Given the description of an element on the screen output the (x, y) to click on. 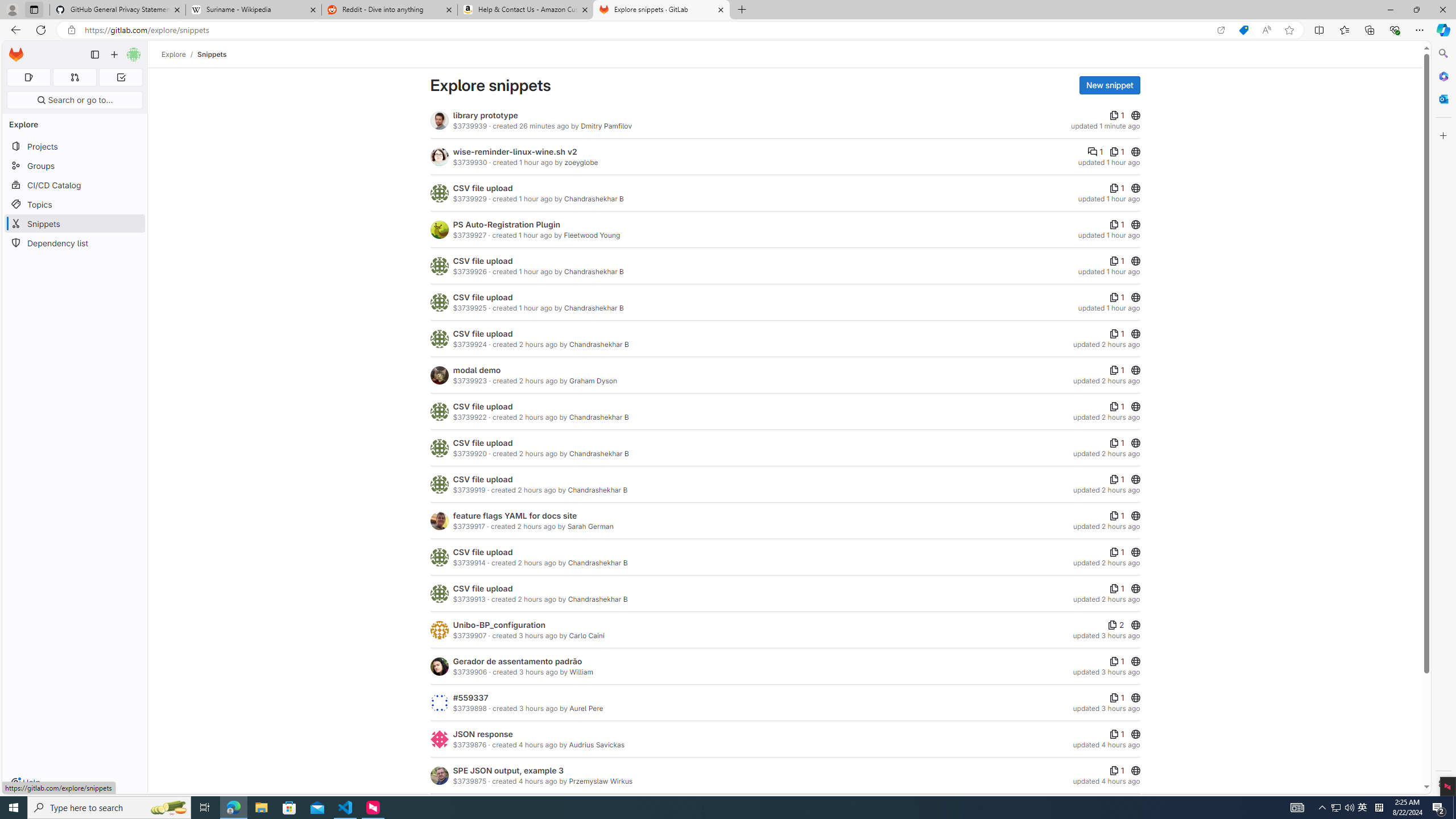
William (580, 671)
Help & Contact Us - Amazon Customer Service (525, 9)
CI/CD Catalog (74, 185)
Carlo Caini (586, 635)
Dependency list (74, 242)
Dmitry Pamfilov (605, 126)
